Given the description of an element on the screen output the (x, y) to click on. 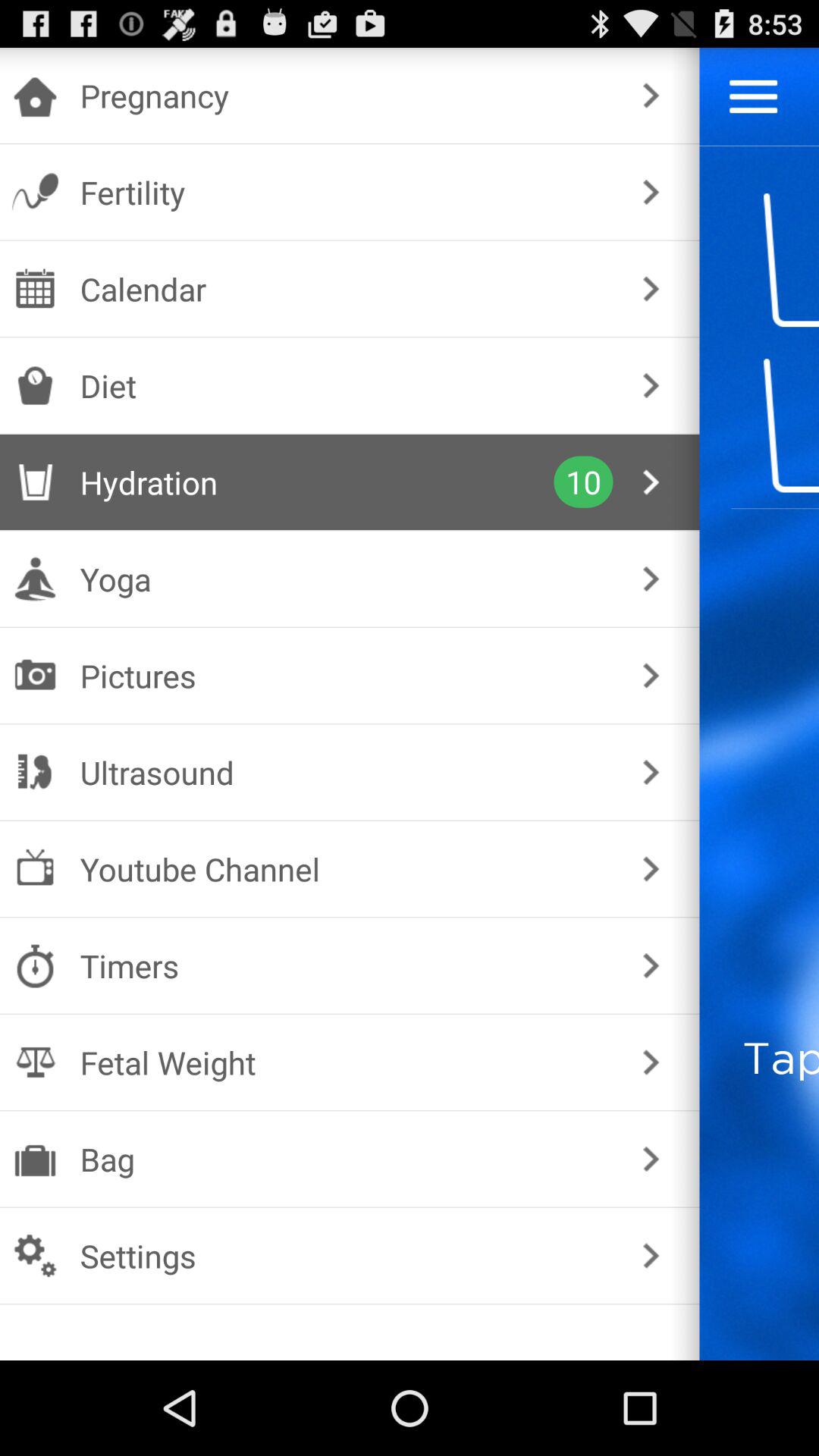
open the hydration item (316, 481)
